Given the description of an element on the screen output the (x, y) to click on. 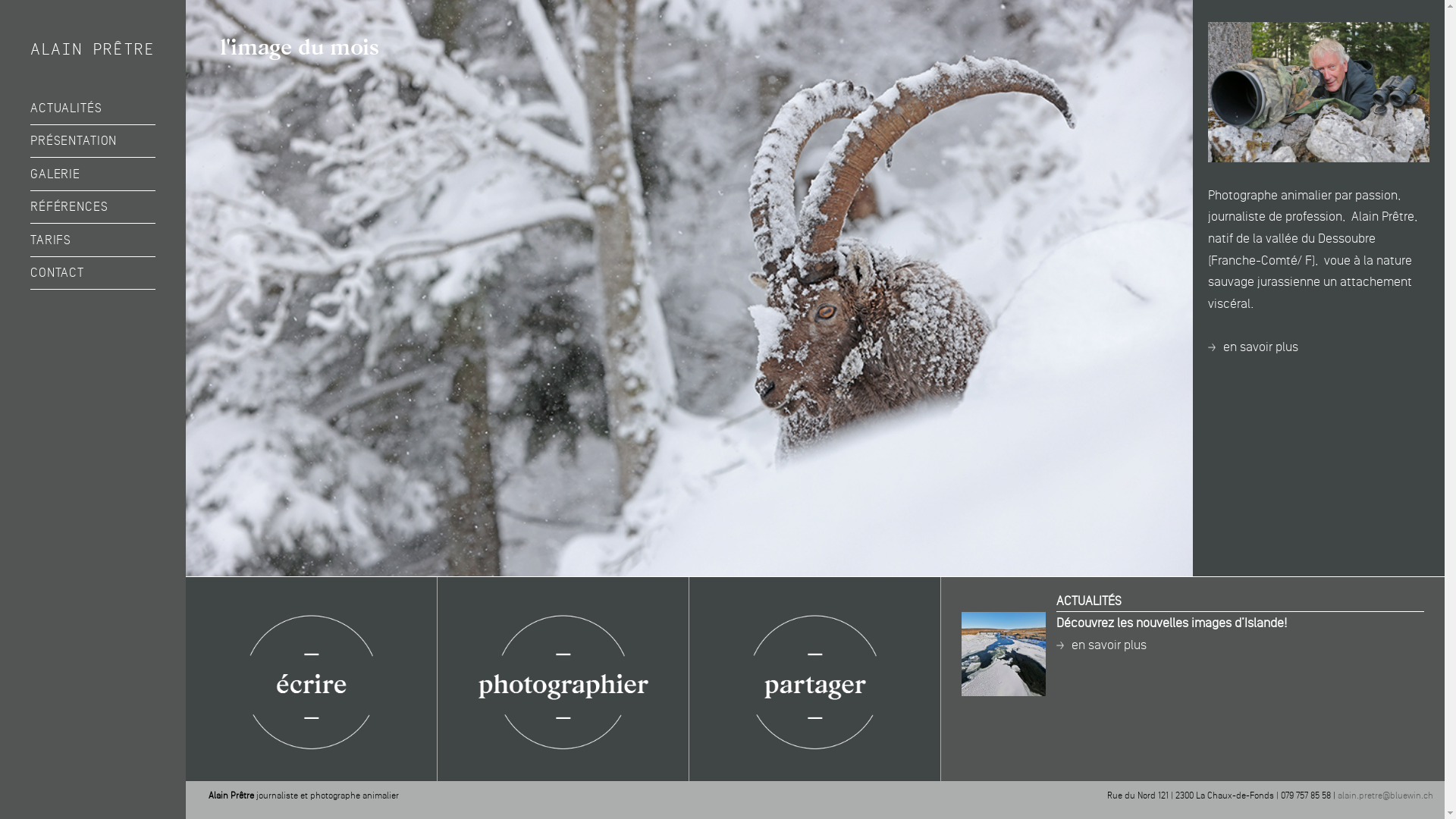
en savoir plus Element type: text (1101, 644)
GALERIE Element type: text (92, 173)
TARIFS Element type: text (92, 239)
ouvrir le sous-menu Element type: text (92, 133)
ouvrir le sous-menu Element type: text (92, 165)
alain.pretre@bluewin.ch Element type: text (1385, 795)
en savoir plus Element type: text (1253, 346)
CONTACT Element type: text (92, 273)
